Given the description of an element on the screen output the (x, y) to click on. 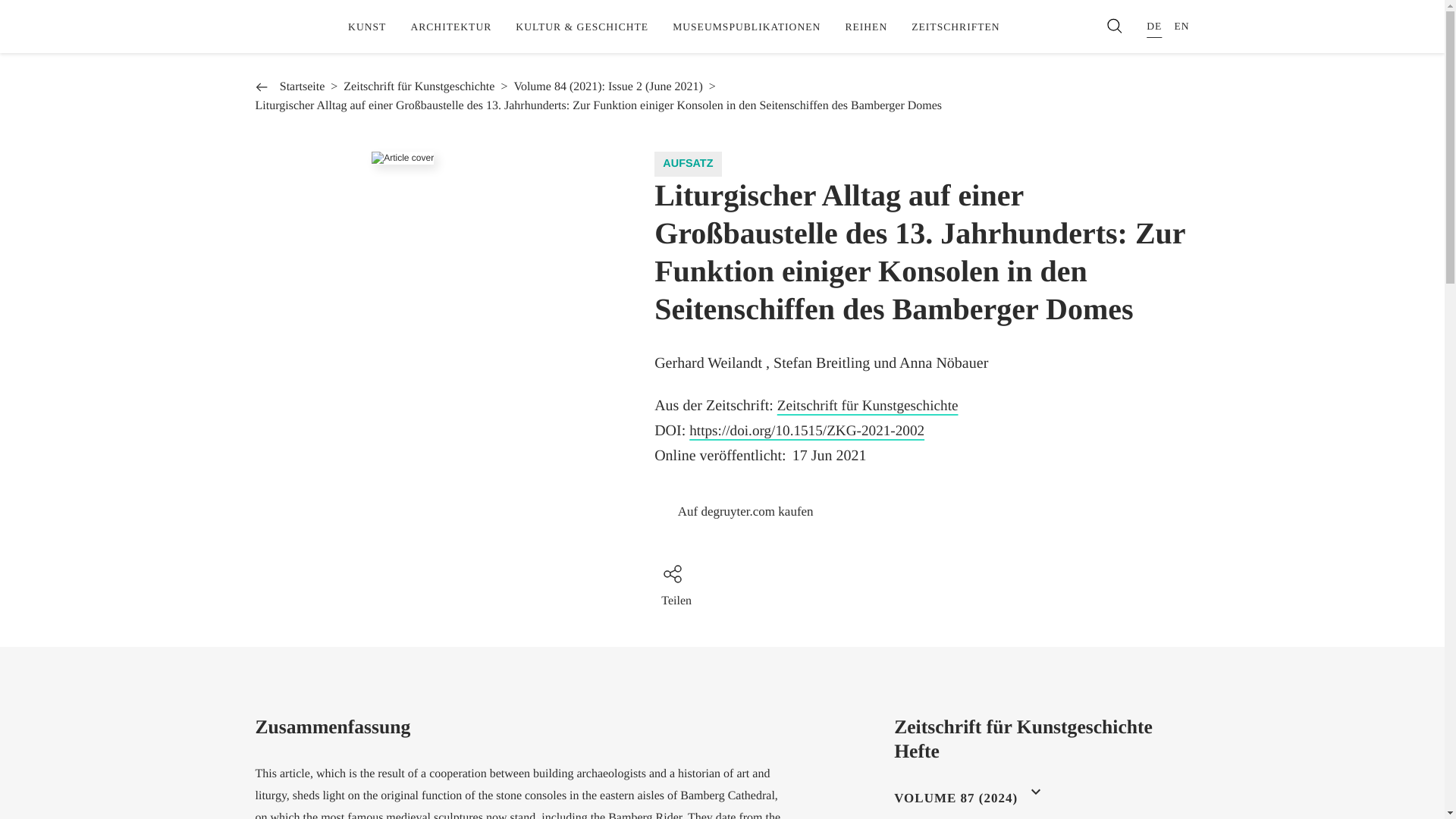
Auf degruyter.com kaufen (744, 511)
